Given the description of an element on the screen output the (x, y) to click on. 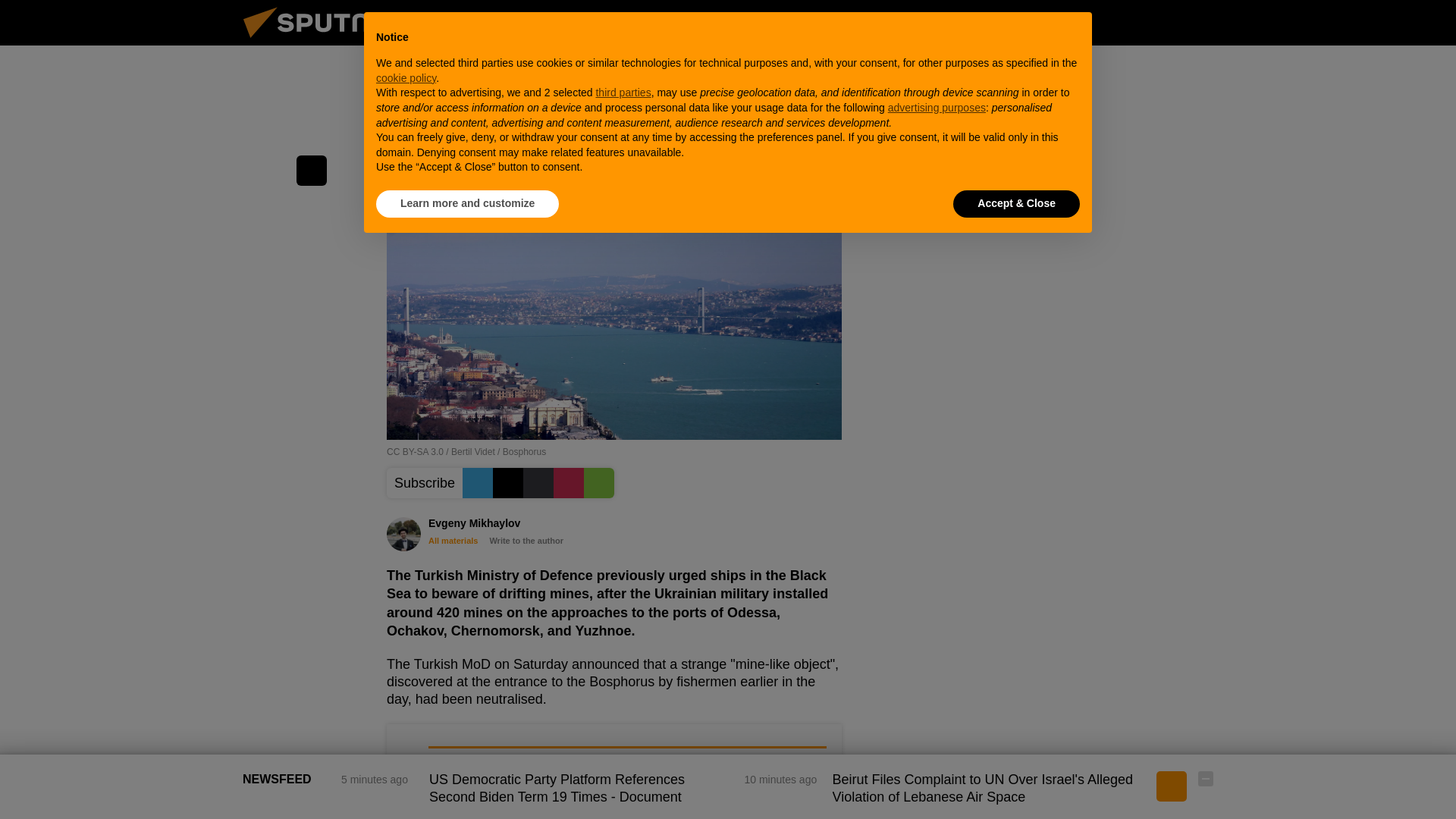
Authorization (1129, 22)
Sputnik International (325, 41)
Chats (1206, 22)
